Given the description of an element on the screen output the (x, y) to click on. 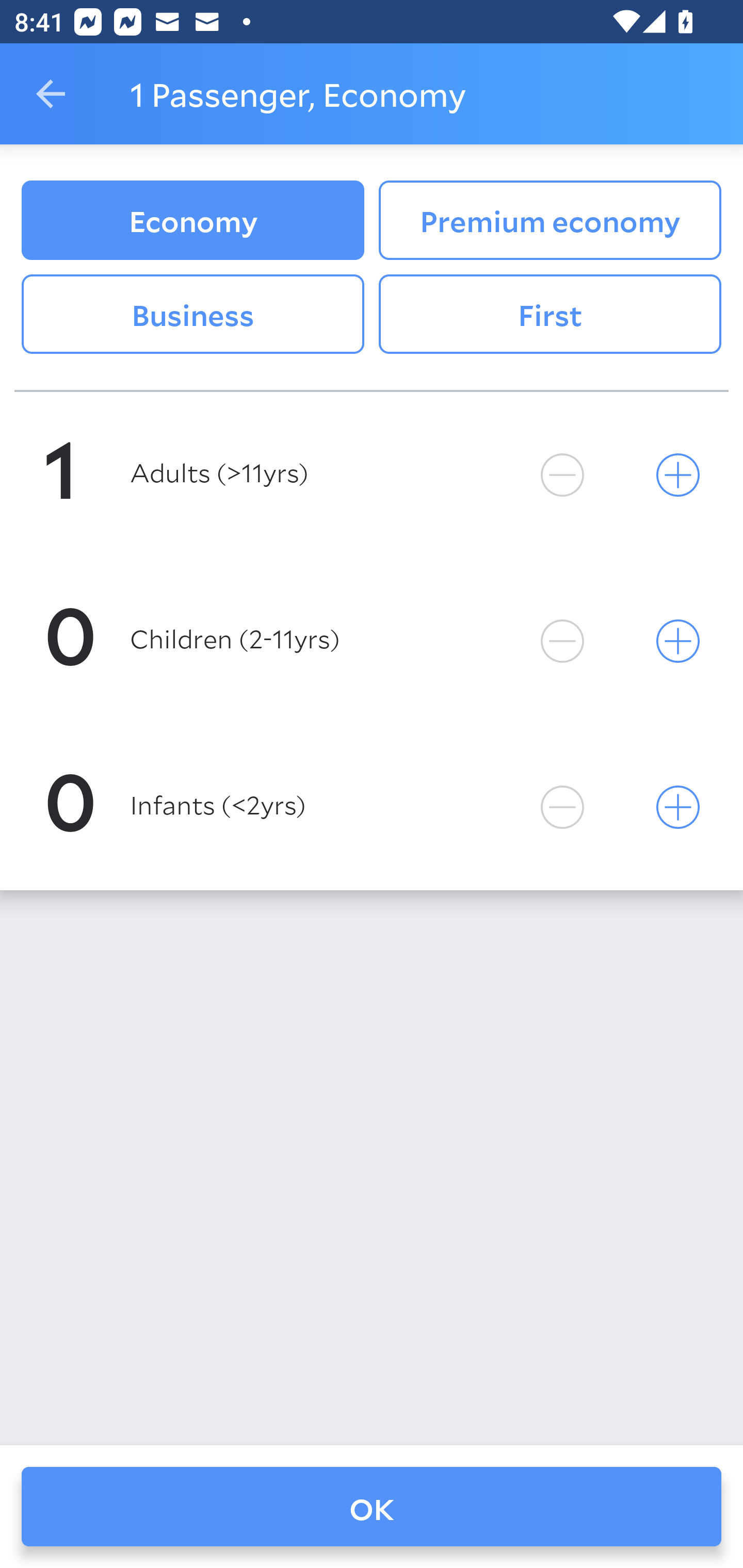
Navigate up (50, 93)
Economy (192, 220)
Premium economy (549, 220)
Business (192, 314)
First (549, 314)
OK (371, 1506)
